Given the description of an element on the screen output the (x, y) to click on. 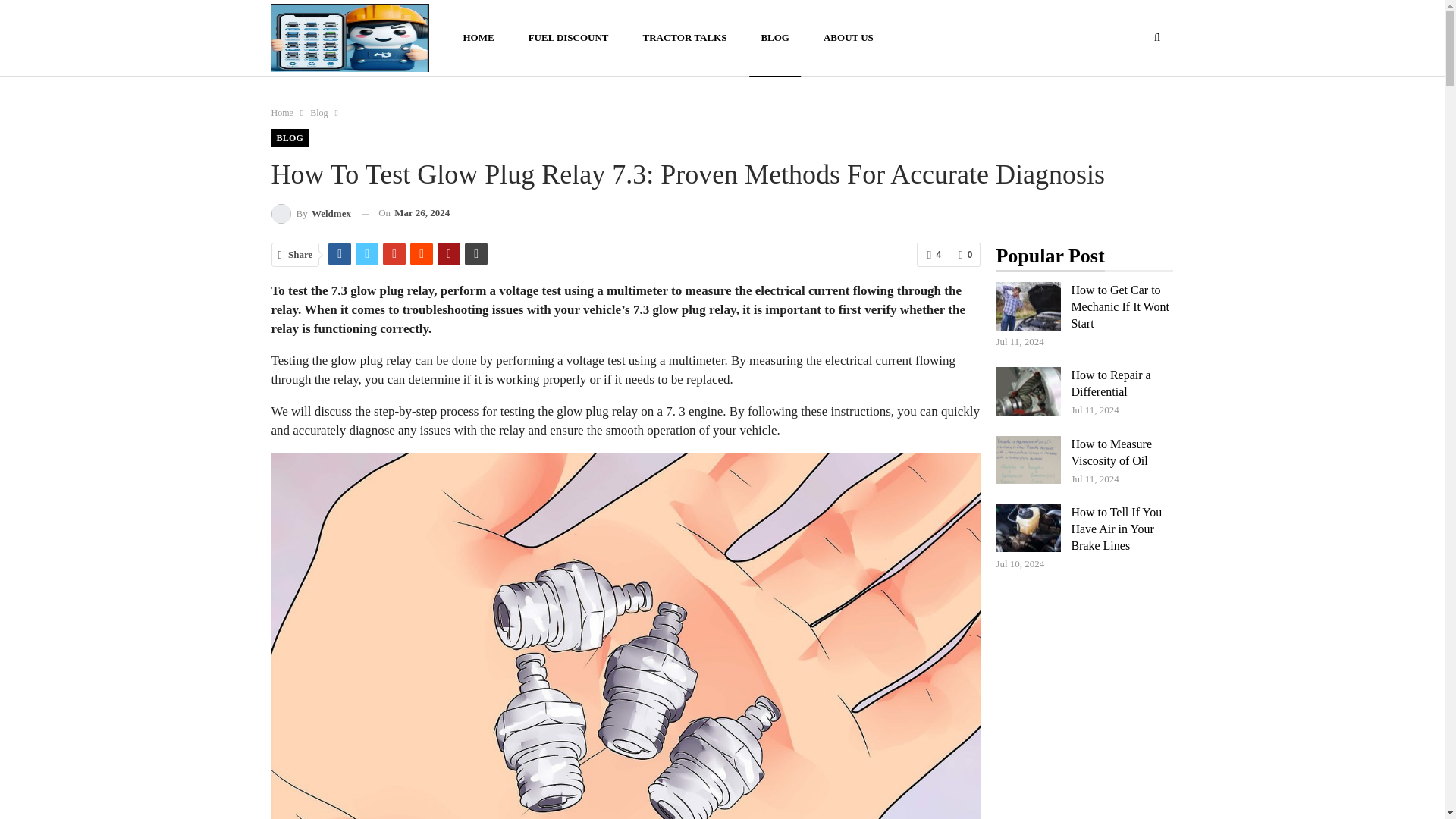
Home (282, 112)
Blog (318, 112)
By Weldmex (310, 213)
0 (964, 254)
BLOG (289, 137)
FUEL DISCOUNT (568, 38)
HOME (478, 38)
ABOUT US (848, 38)
Browse Author Articles (310, 213)
TRACTOR TALKS (684, 38)
BLOG (774, 38)
